Given the description of an element on the screen output the (x, y) to click on. 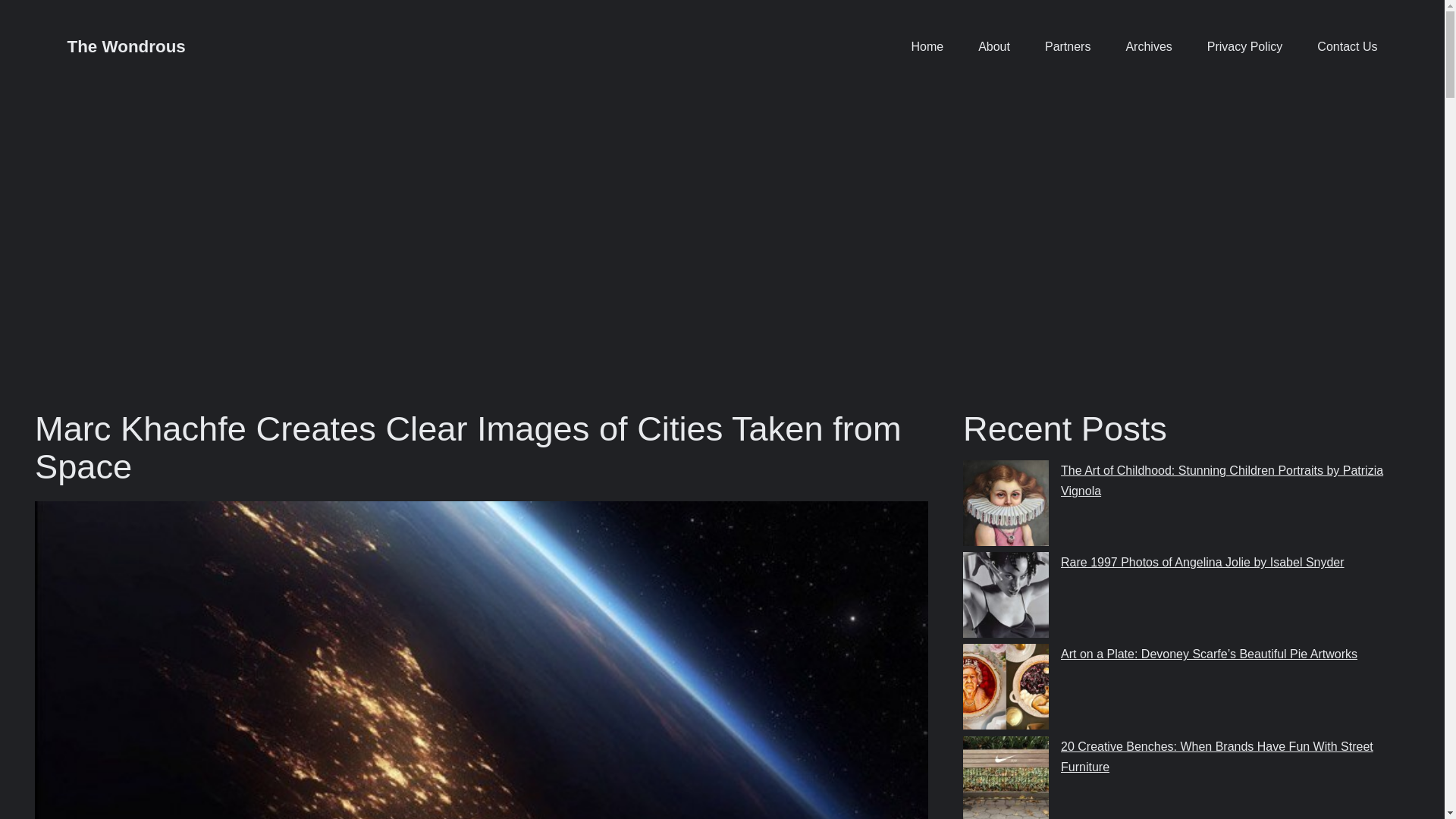
Privacy Policy (1244, 46)
Home (927, 46)
The Wondrous (125, 46)
Partners (1067, 46)
Contact Us (1347, 46)
Rare 1997 Photos of Angelina Jolie by Isabel Snyder (1202, 562)
About (994, 46)
Archives (1148, 46)
